Given the description of an element on the screen output the (x, y) to click on. 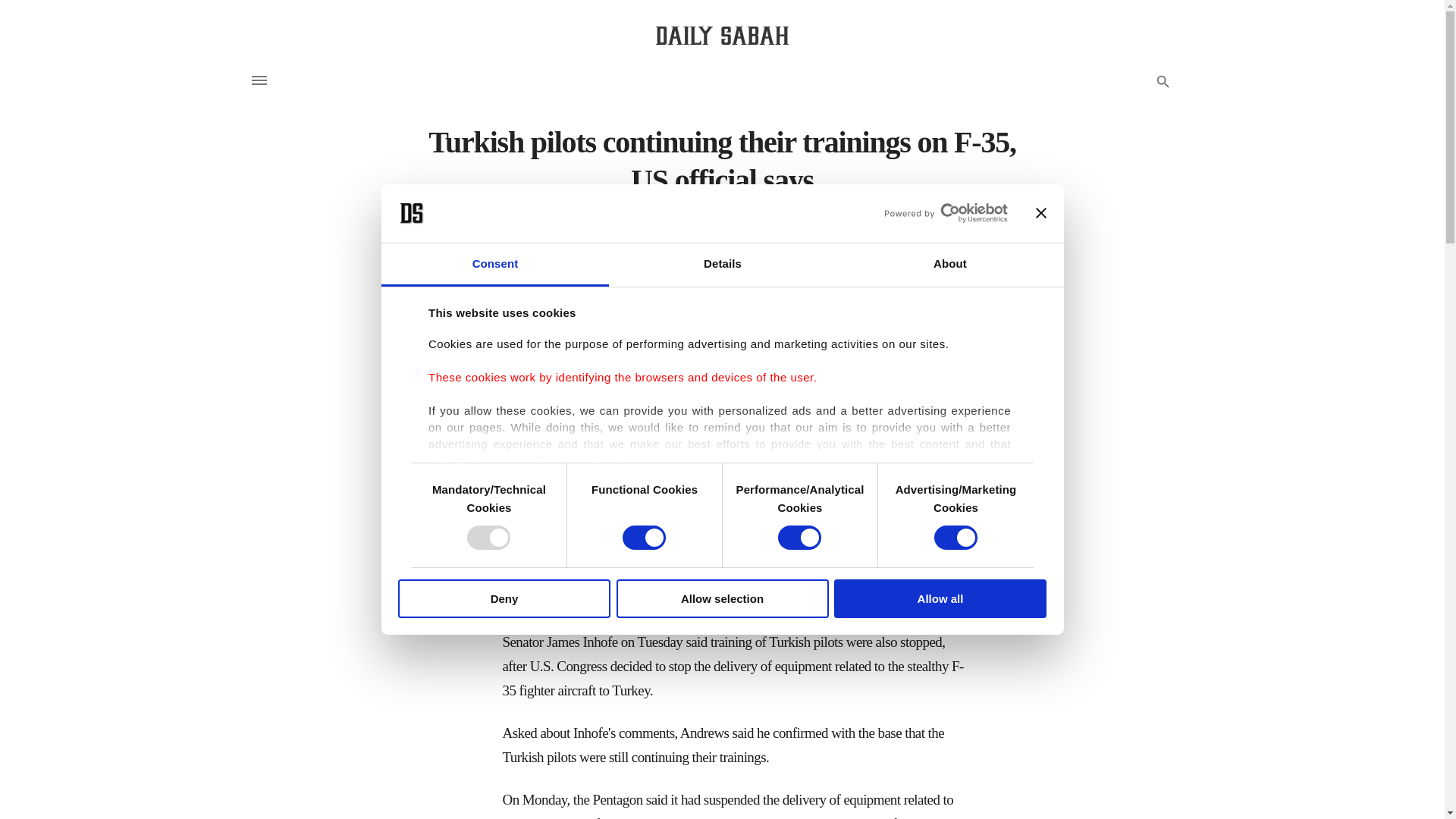
Cookie Information Text (909, 610)
Consent (494, 264)
Details (721, 264)
About (948, 264)
